Given the description of an element on the screen output the (x, y) to click on. 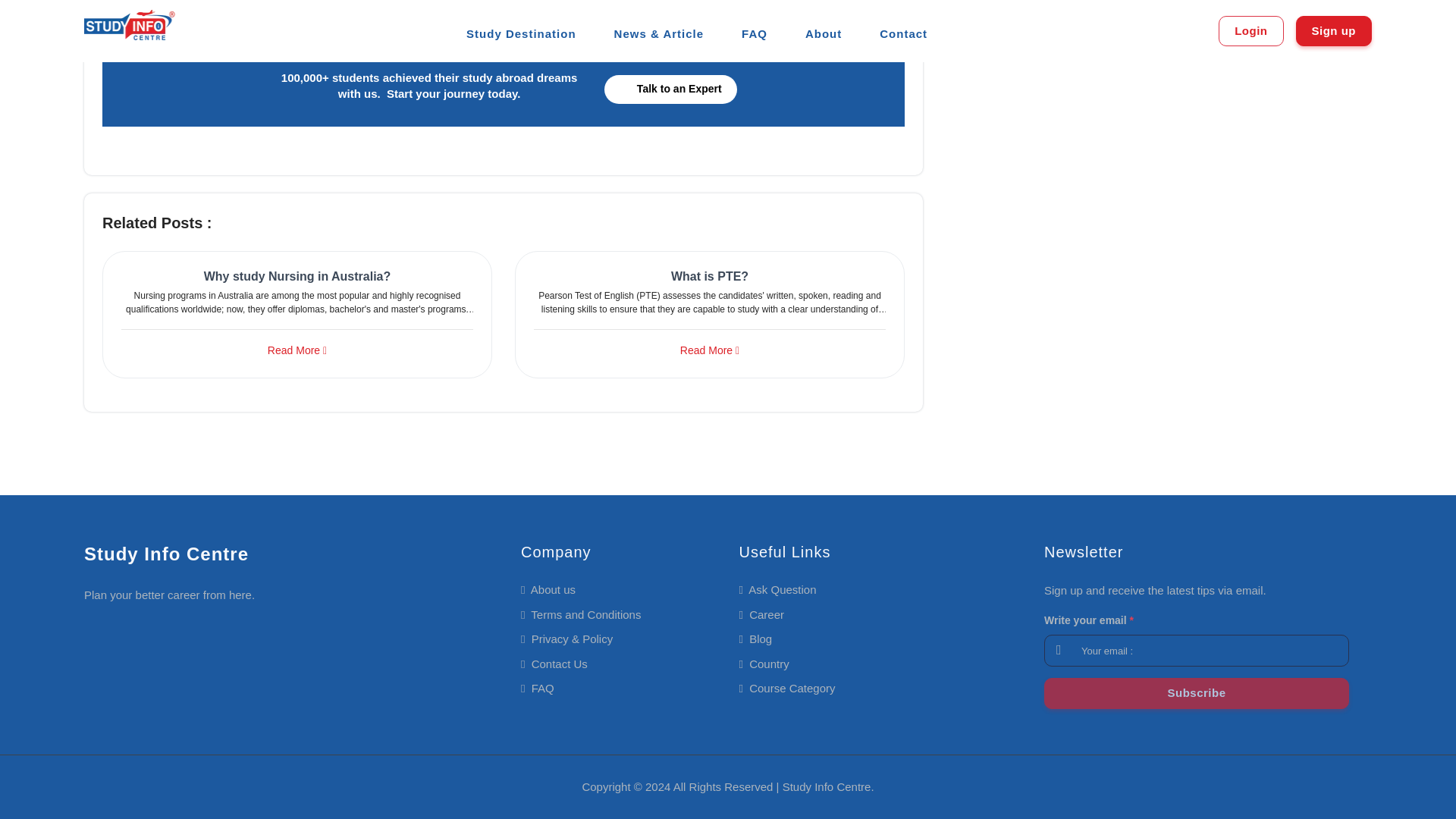
FAQ (537, 687)
Country (763, 663)
  Talk to an Expert (670, 89)
Ask Question (776, 589)
best universities for international students (577, 33)
Contact Us (554, 663)
best courses to study in Australia (333, 33)
Career (761, 614)
Subscribe (1196, 693)
About us (548, 589)
